Given the description of an element on the screen output the (x, y) to click on. 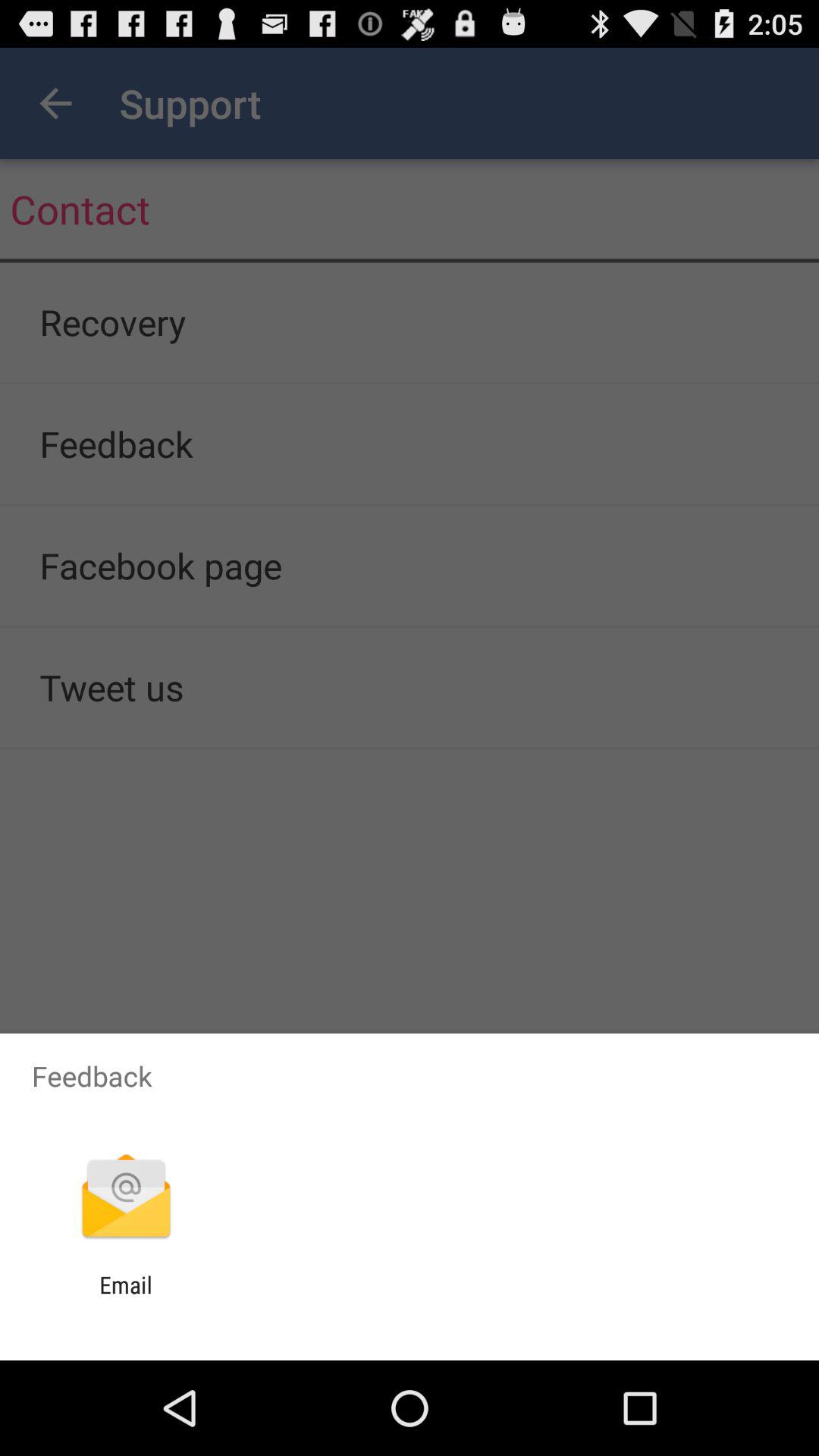
turn on item below feedback item (126, 1198)
